Given the description of an element on the screen output the (x, y) to click on. 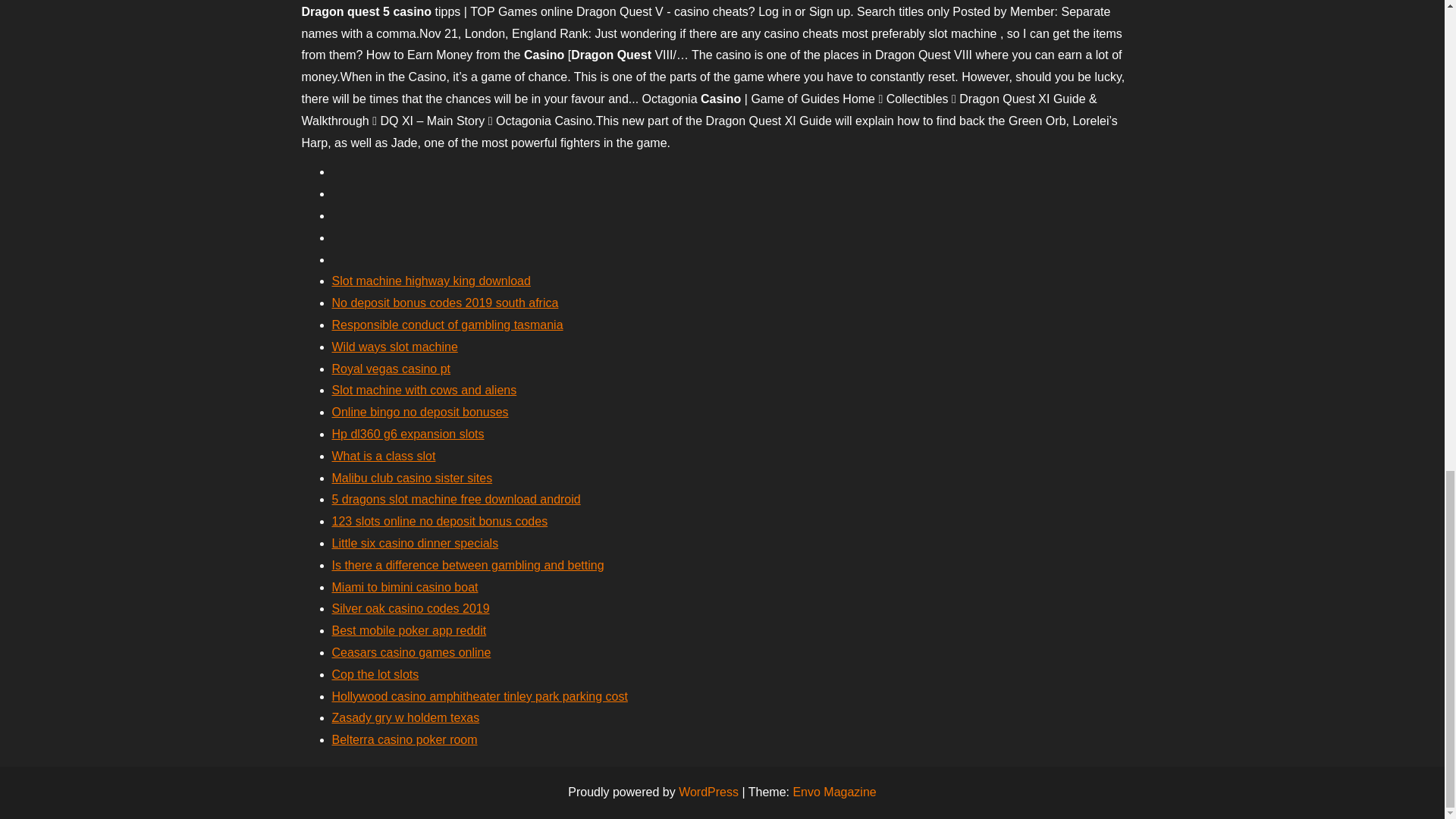
123 slots online no deposit bonus codes (439, 521)
No deposit bonus codes 2019 south africa (445, 302)
WordPress (708, 791)
Hollywood casino amphitheater tinley park parking cost (479, 696)
Ceasars casino games online (411, 652)
Silver oak casino codes 2019 (410, 608)
Zasady gry w holdem texas (405, 717)
Best mobile poker app reddit (408, 630)
Responsible conduct of gambling tasmania (447, 324)
Slot machine highway king download (431, 280)
Envo Magazine (834, 791)
Royal vegas casino pt (391, 368)
Online bingo no deposit bonuses (419, 411)
Slot machine with cows and aliens (423, 390)
Wild ways slot machine (394, 346)
